Given the description of an element on the screen output the (x, y) to click on. 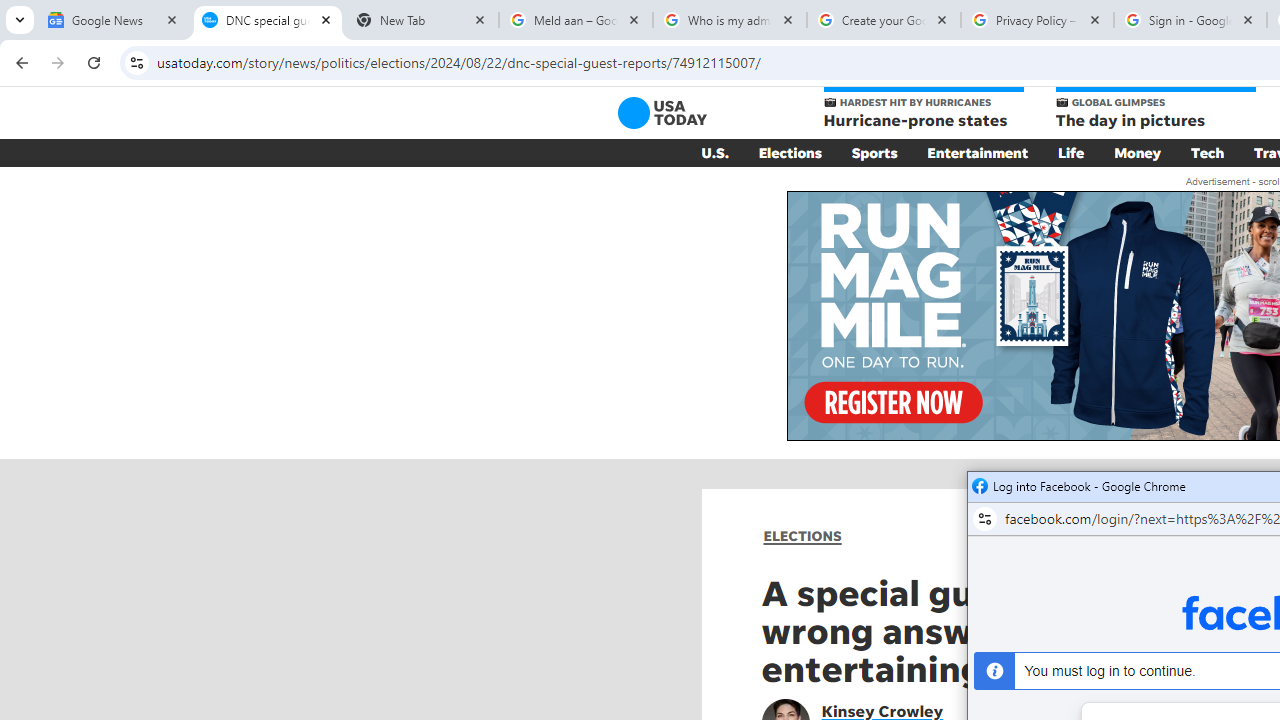
Sports (873, 152)
Tech (1207, 152)
U.S. (714, 152)
Google News (113, 20)
Entertainment (977, 152)
ELECTIONS (802, 536)
USA TODAY (661, 112)
Elections (789, 152)
Sign in - Google Accounts (1190, 20)
